Given the description of an element on the screen output the (x, y) to click on. 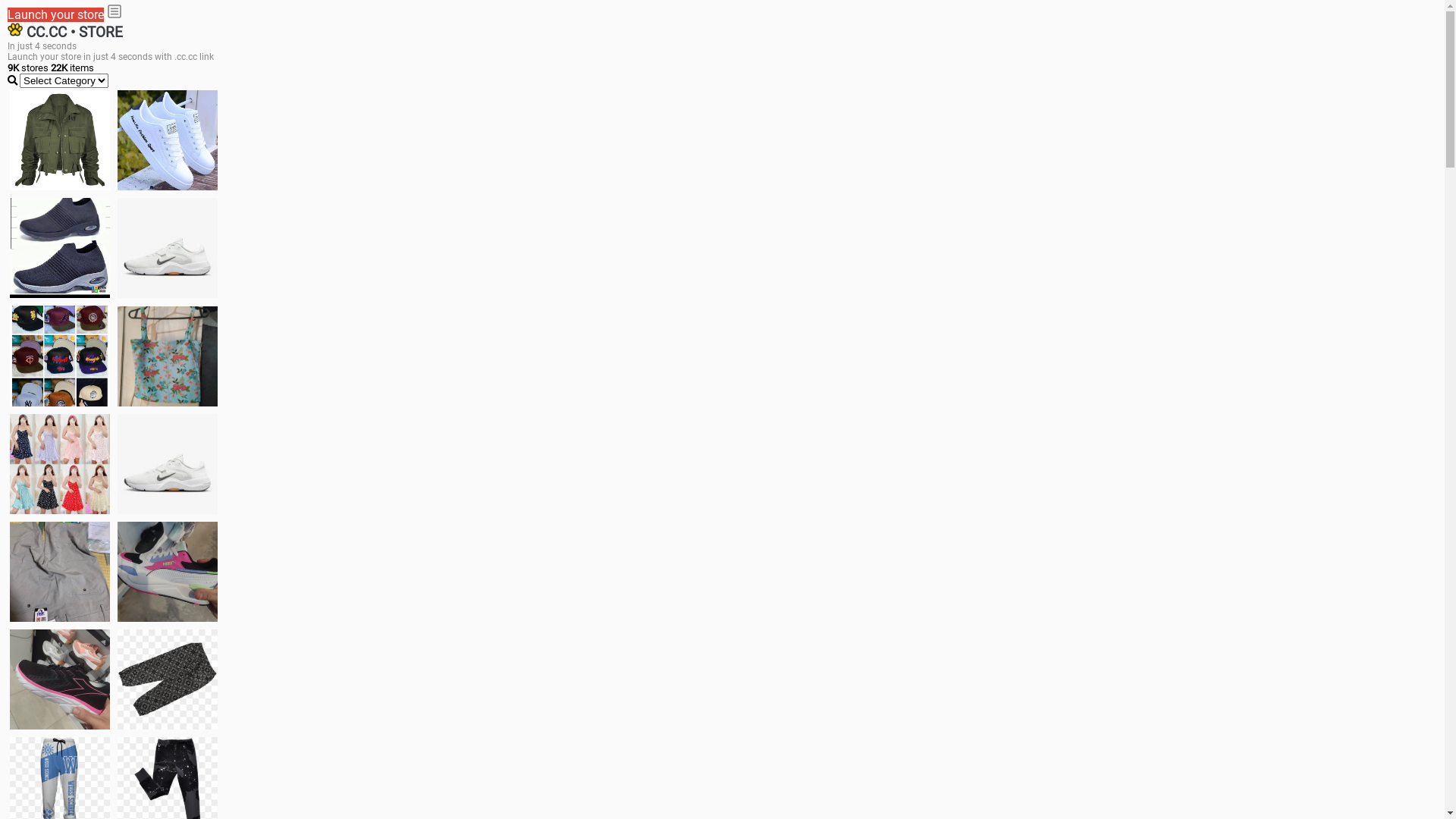
Things we need Element type: hover (59, 355)
white shoes Element type: hover (167, 140)
Dress/square nect top Element type: hover (59, 464)
Zapatillas Element type: hover (59, 679)
Zapatillas pumas Element type: hover (167, 571)
Shoes for boys Element type: hover (167, 247)
Shoes Element type: hover (167, 464)
Short pant Element type: hover (167, 679)
Ukay cloth Element type: hover (167, 356)
Launch your store Element type: text (55, 14)
jacket Element type: hover (59, 140)
shoes for boys Element type: hover (59, 247)
